Given the description of an element on the screen output the (x, y) to click on. 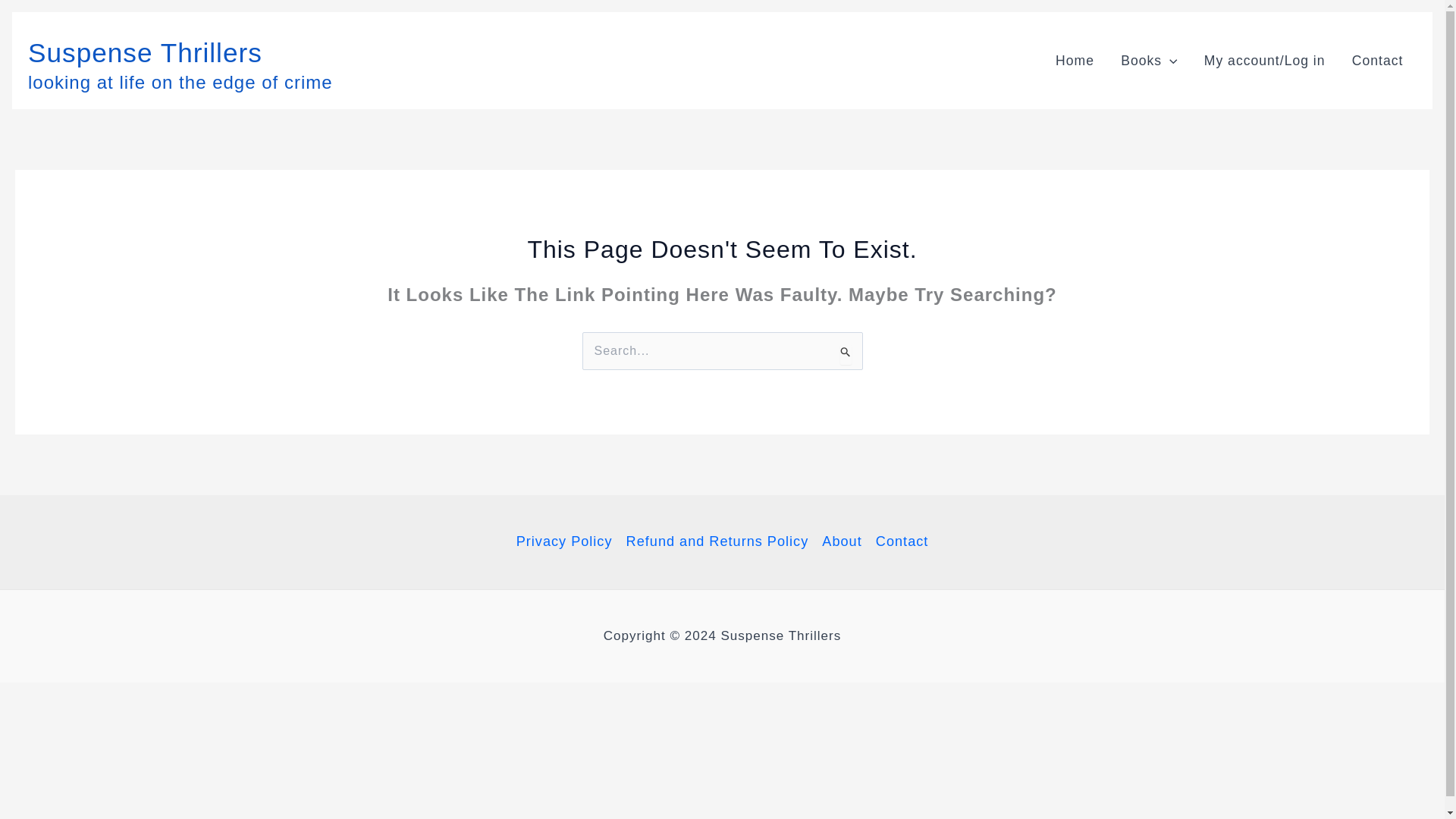
Contact (1377, 60)
Refund and Returns Policy (717, 542)
Home (1074, 60)
Suspense Thrillers (144, 52)
Contact (898, 542)
Books (1149, 60)
About (842, 542)
Privacy Policy (568, 542)
